Given the description of an element on the screen output the (x, y) to click on. 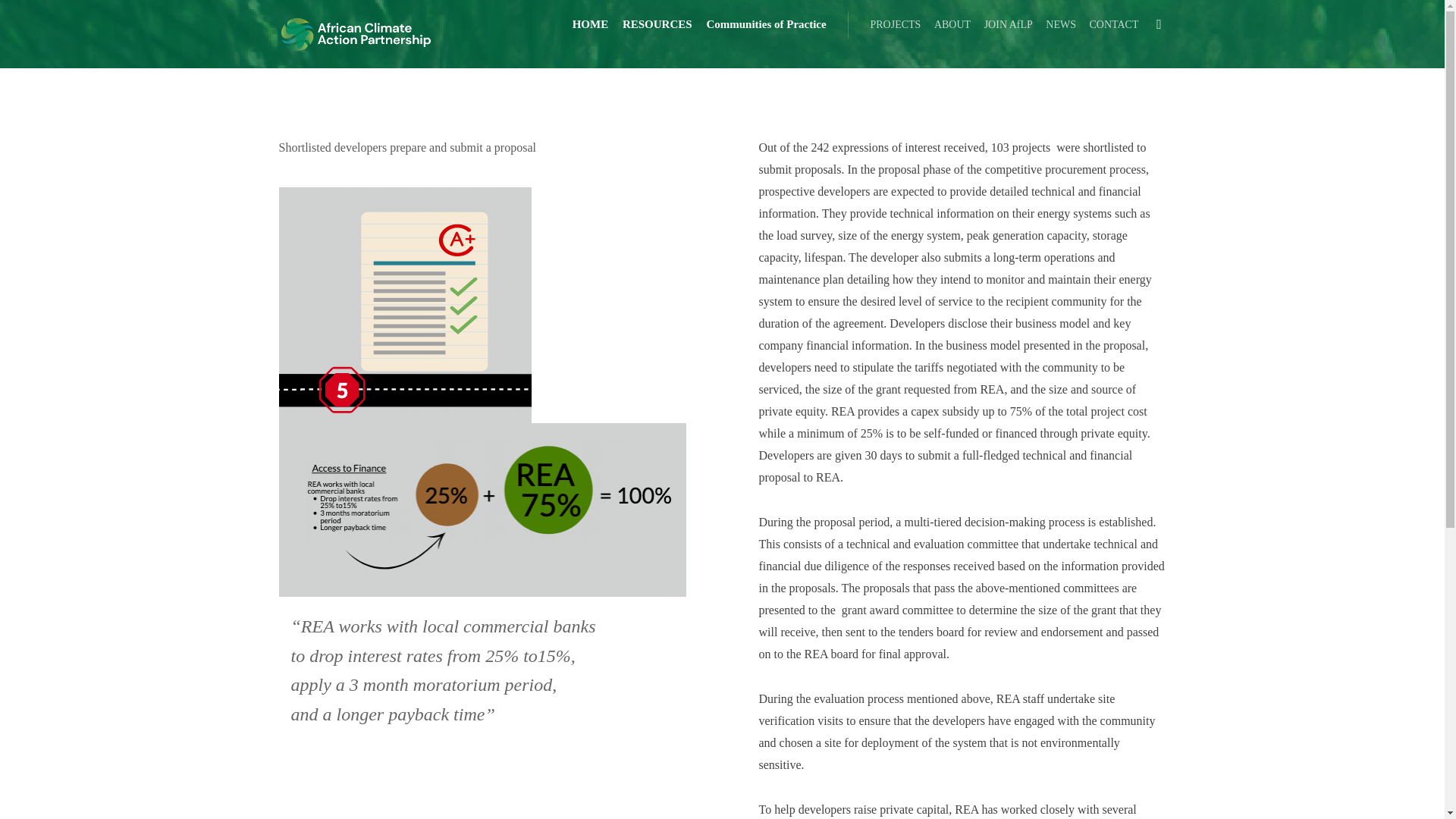
Communities of Practice (766, 24)
YouTube (1123, 675)
JOIN AfLP (1007, 24)
RESOURCES (656, 24)
CONTACT (1112, 24)
HOME (590, 24)
NEWS (1060, 24)
PROJECTS (895, 24)
ABOUT (952, 24)
Twitter (1043, 675)
